Given the description of an element on the screen output the (x, y) to click on. 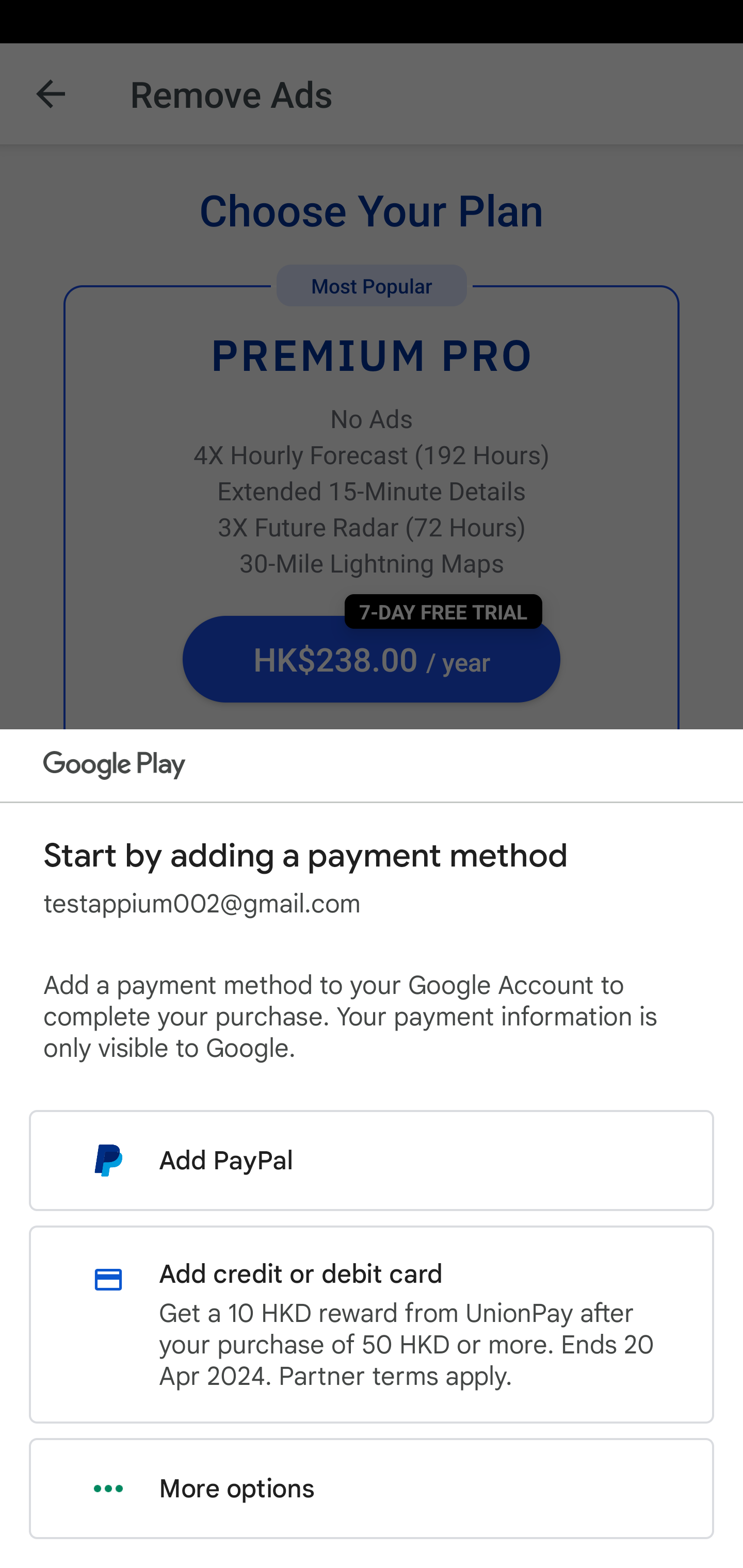
Add PayPal (371, 1160)
More options (371, 1488)
